Given the description of an element on the screen output the (x, y) to click on. 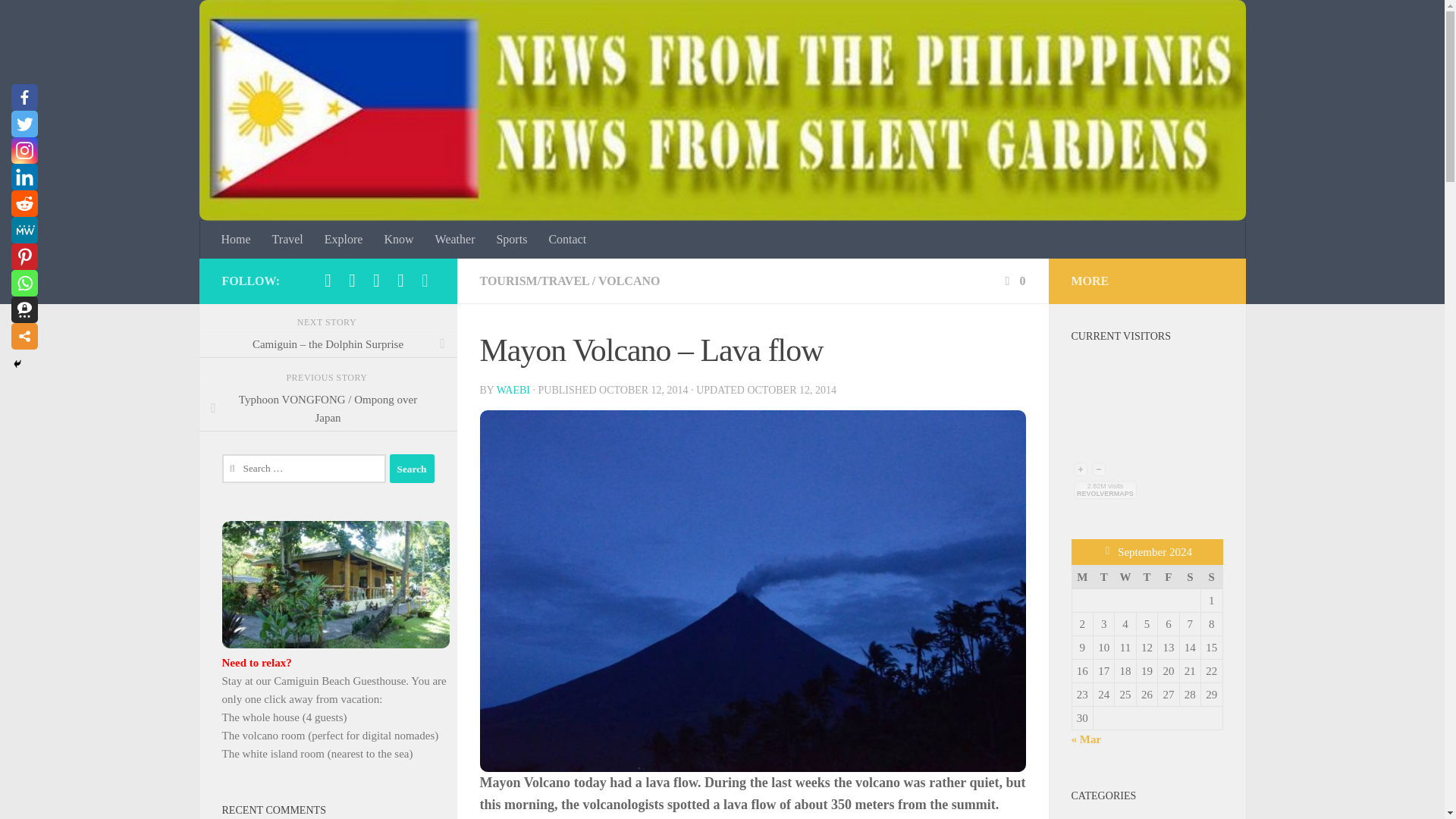
Home (236, 239)
VOLCANO (628, 280)
Go to our sports pages on our main site (510, 239)
Explore (344, 239)
Weather (455, 239)
Search (411, 468)
Travel (288, 239)
Go to our explorer pages on our main site (344, 239)
0 (1013, 280)
Skip to content (59, 20)
